Given the description of an element on the screen output the (x, y) to click on. 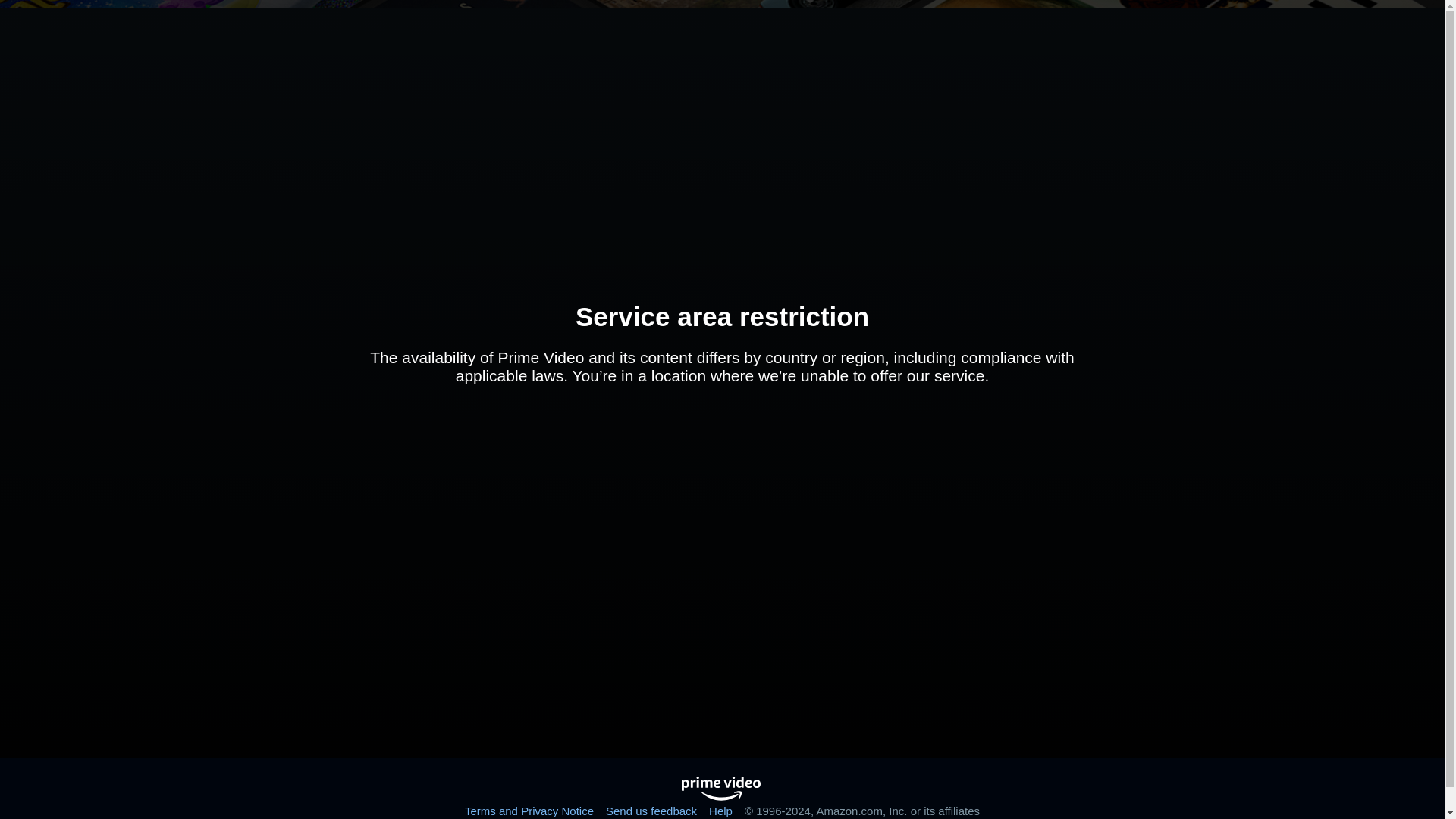
Send us feedback (651, 810)
Help (720, 810)
Terms and Privacy Notice (529, 810)
